Given the description of an element on the screen output the (x, y) to click on. 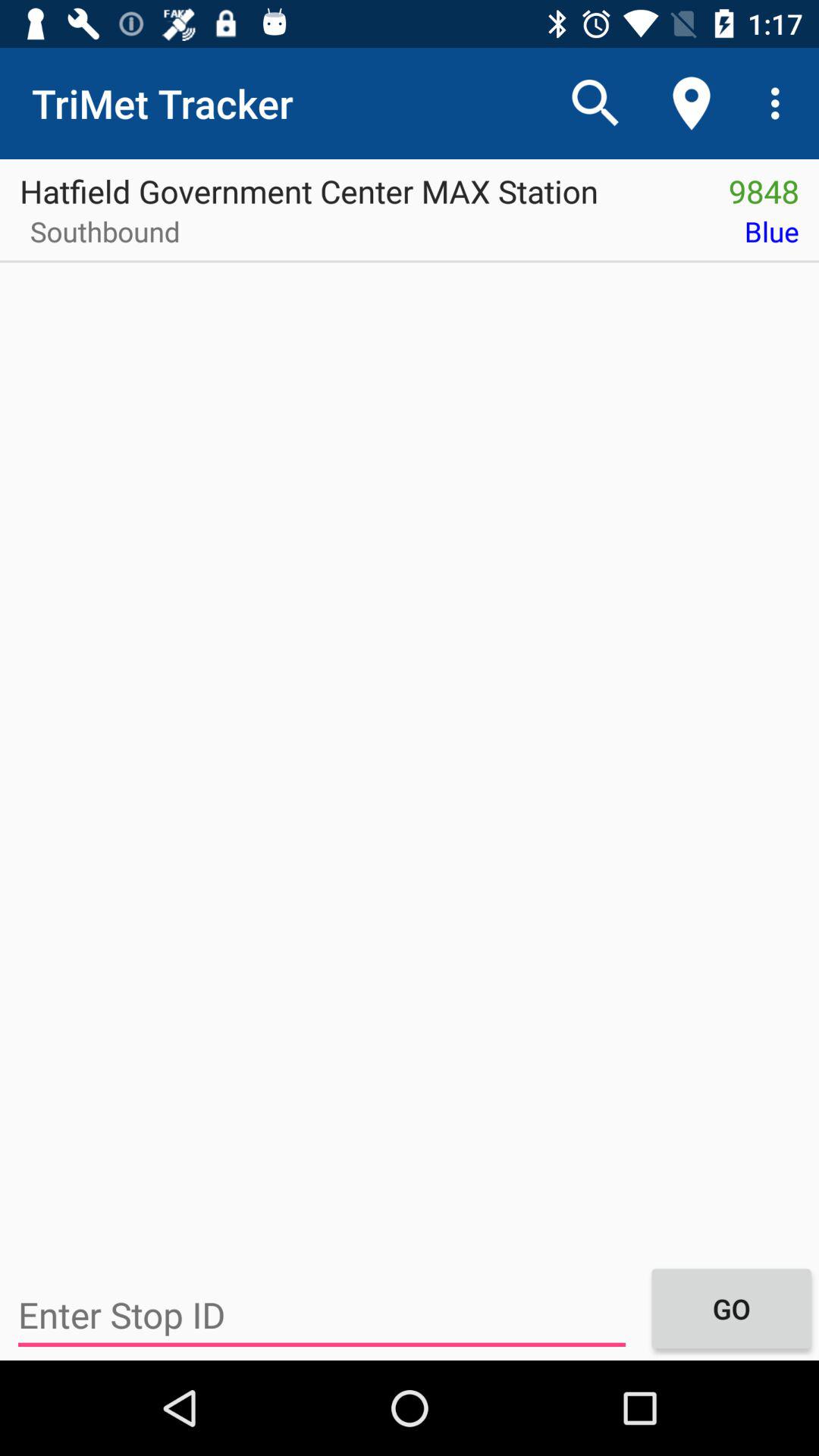
open the hatfield government center icon (354, 185)
